Given the description of an element on the screen output the (x, y) to click on. 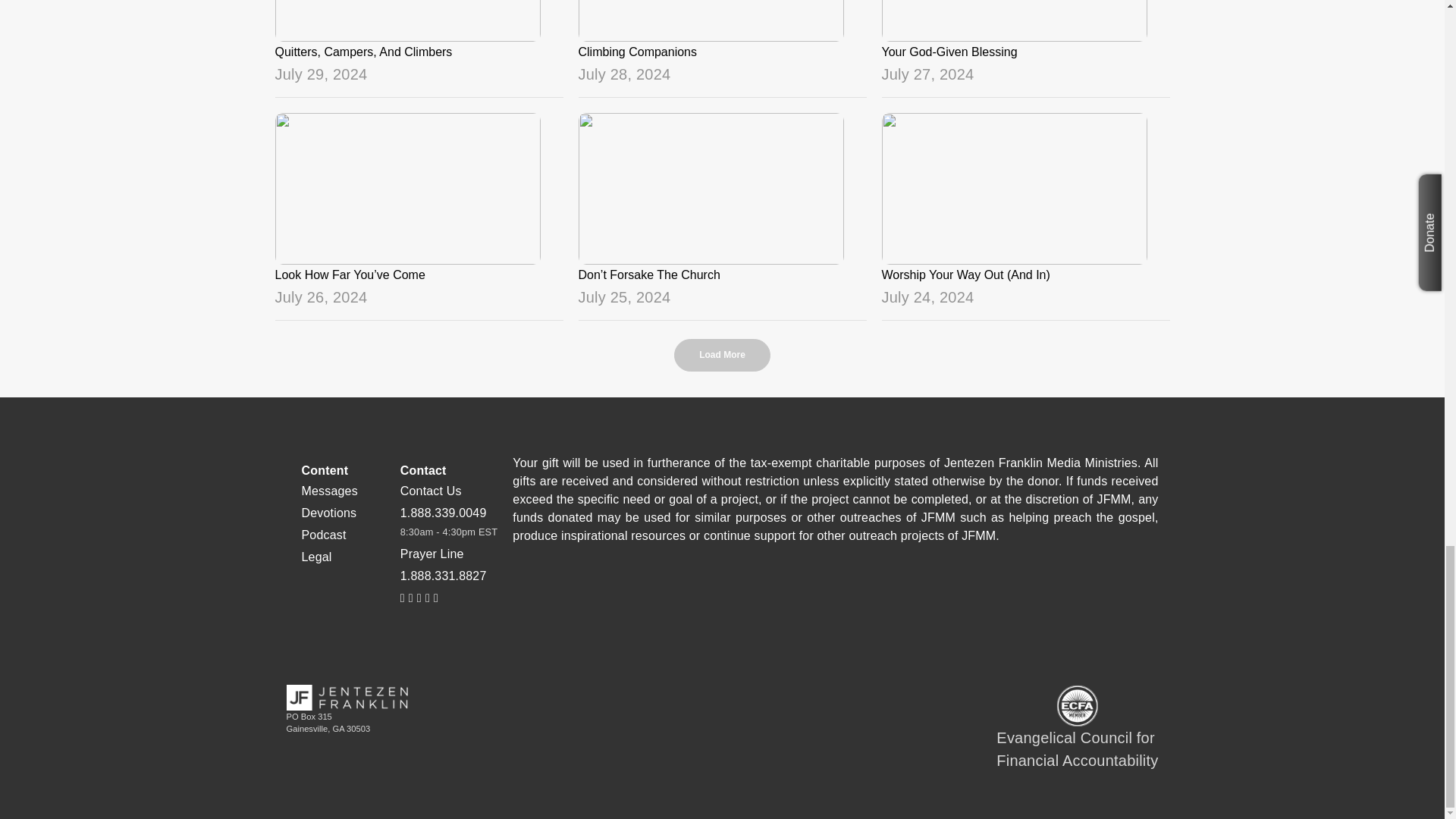
Quitters, Campers, and Climbers (418, 42)
Jentezen Franklin (346, 697)
Your God-Given Blessing (1024, 42)
Climbing Companions (722, 42)
